Given the description of an element on the screen output the (x, y) to click on. 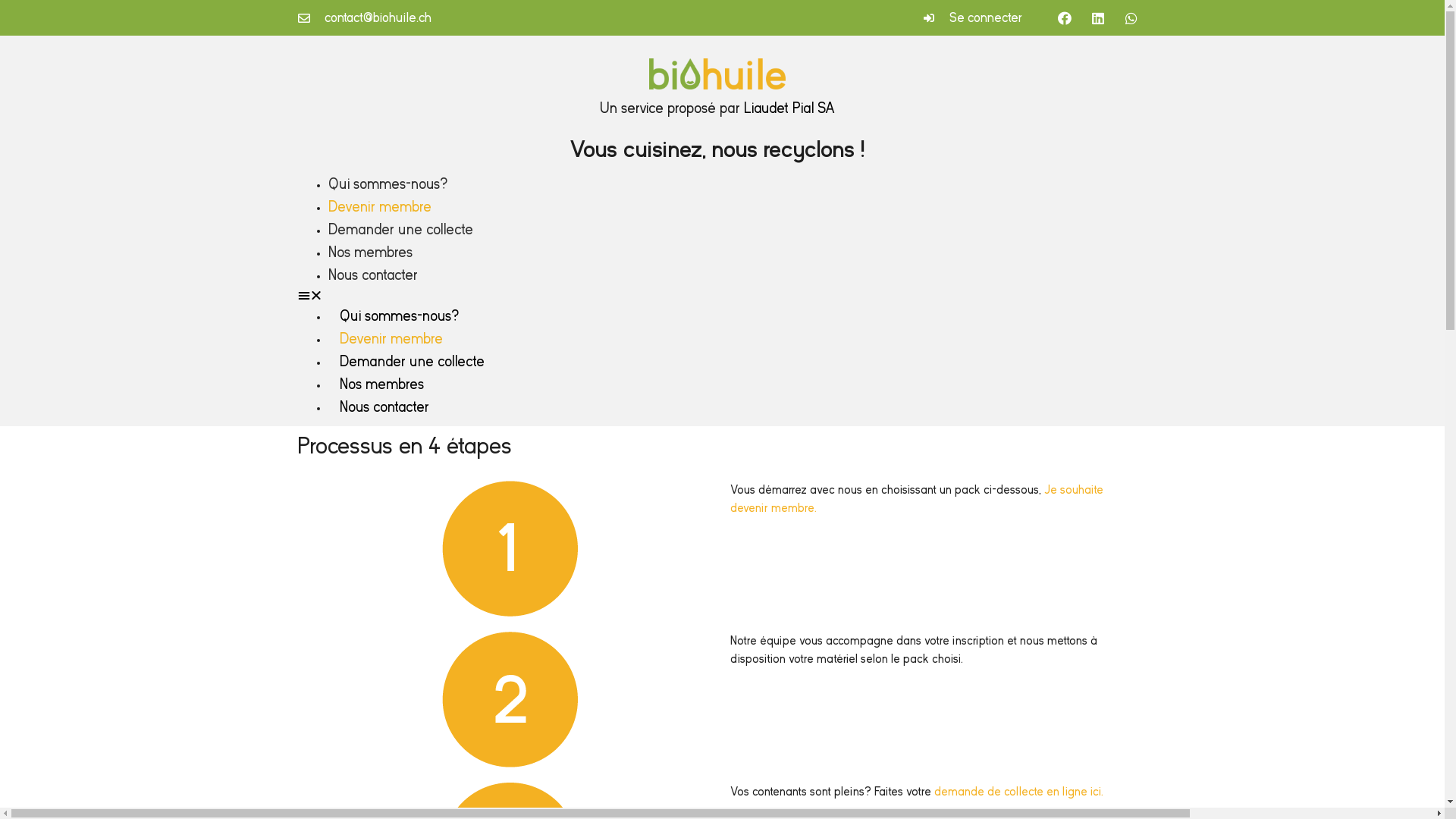
Demander une collecte Element type: text (399, 229)
Nos membres Element type: text (369, 251)
Je souhaite devenir membre. Element type: text (915, 498)
Devenir membre Element type: text (390, 338)
Qui sommes-nous? Element type: text (398, 315)
contact@biohuile.ch Element type: text (363, 17)
Devenir membre Element type: text (378, 206)
Demander une collecte Element type: text (411, 361)
demande de collecte en ligne ici. Element type: text (1018, 791)
Nous contacter Element type: text (383, 406)
Liaudet Pial SA Element type: text (788, 108)
Se connecter Element type: text (734, 17)
Qui sommes-nous? Element type: text (386, 183)
Nous contacter Element type: text (372, 274)
Nos membres Element type: text (380, 383)
